Given the description of an element on the screen output the (x, y) to click on. 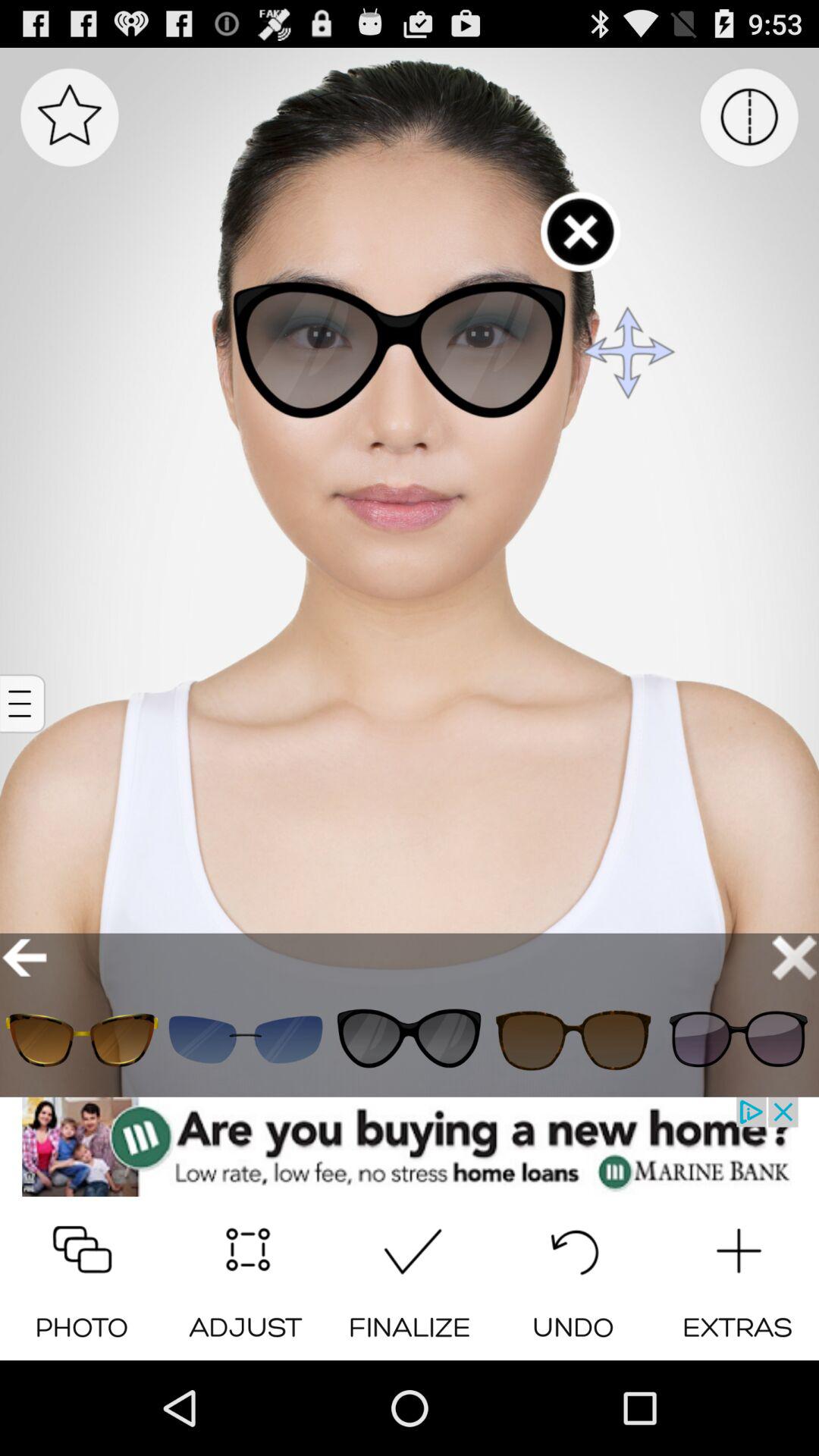
select the specified glass (573, 1039)
